Given the description of an element on the screen output the (x, y) to click on. 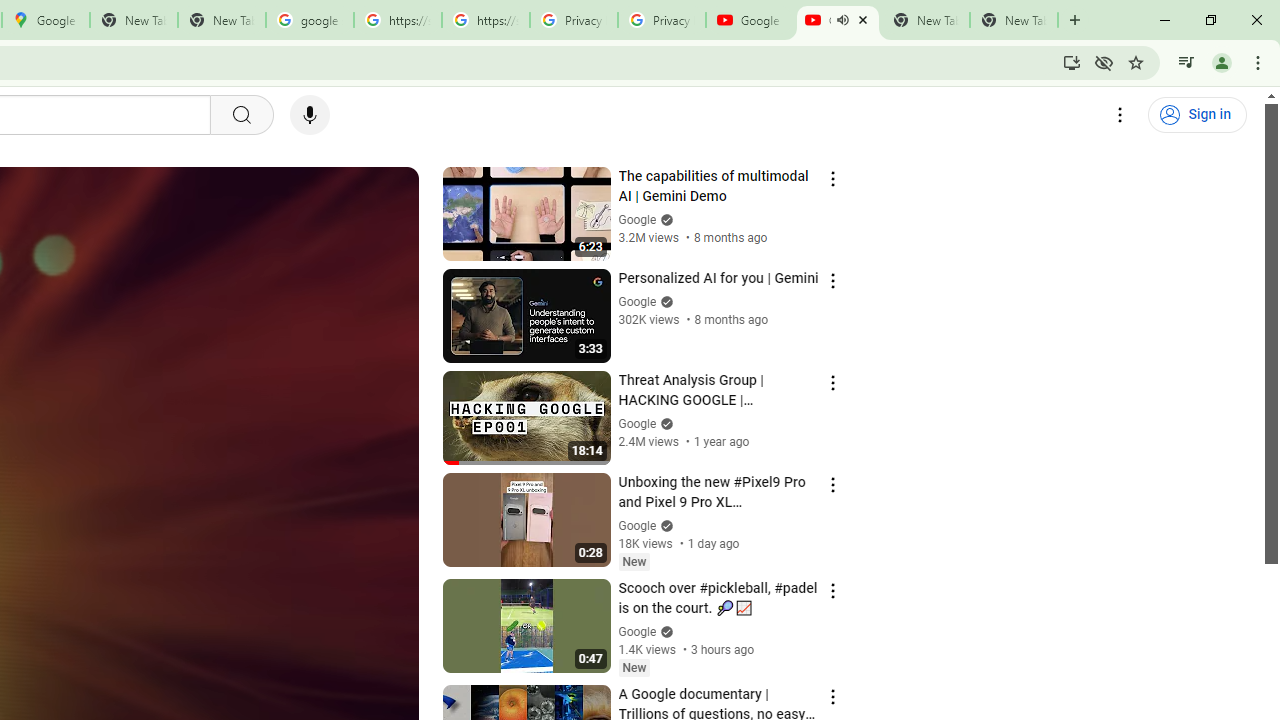
Google - YouTube (749, 20)
New Tab (1014, 20)
Action menu (832, 696)
New (634, 667)
Verified (664, 631)
https://scholar.google.com/ (397, 20)
